Given the description of an element on the screen output the (x, y) to click on. 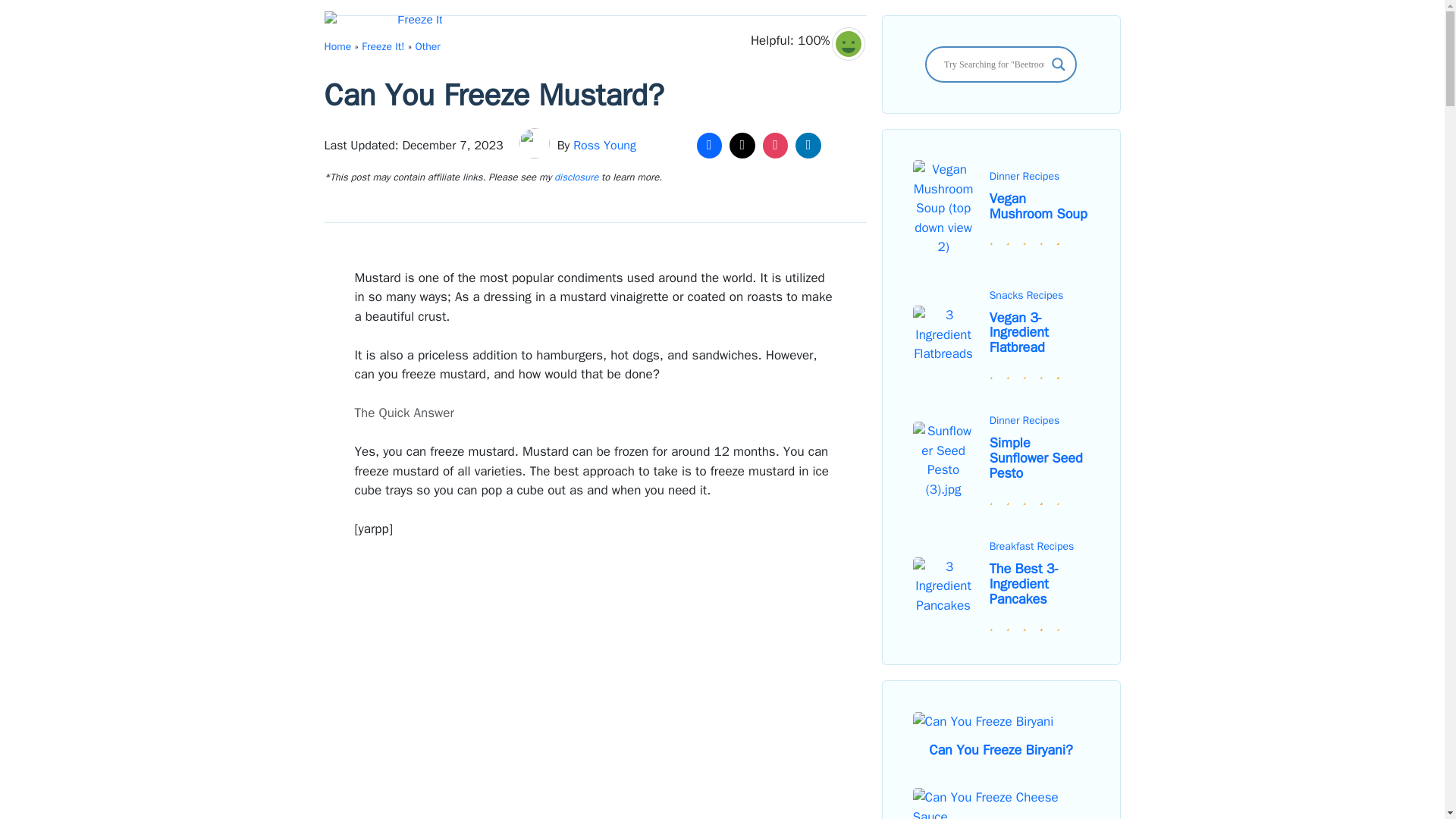
Freeze It! (382, 46)
Other (427, 46)
Linkedin (808, 145)
Facebook (709, 145)
X (741, 145)
Instagram (775, 145)
Freeze It (386, 26)
Home (338, 46)
Freeze It (383, 26)
